Given the description of an element on the screen output the (x, y) to click on. 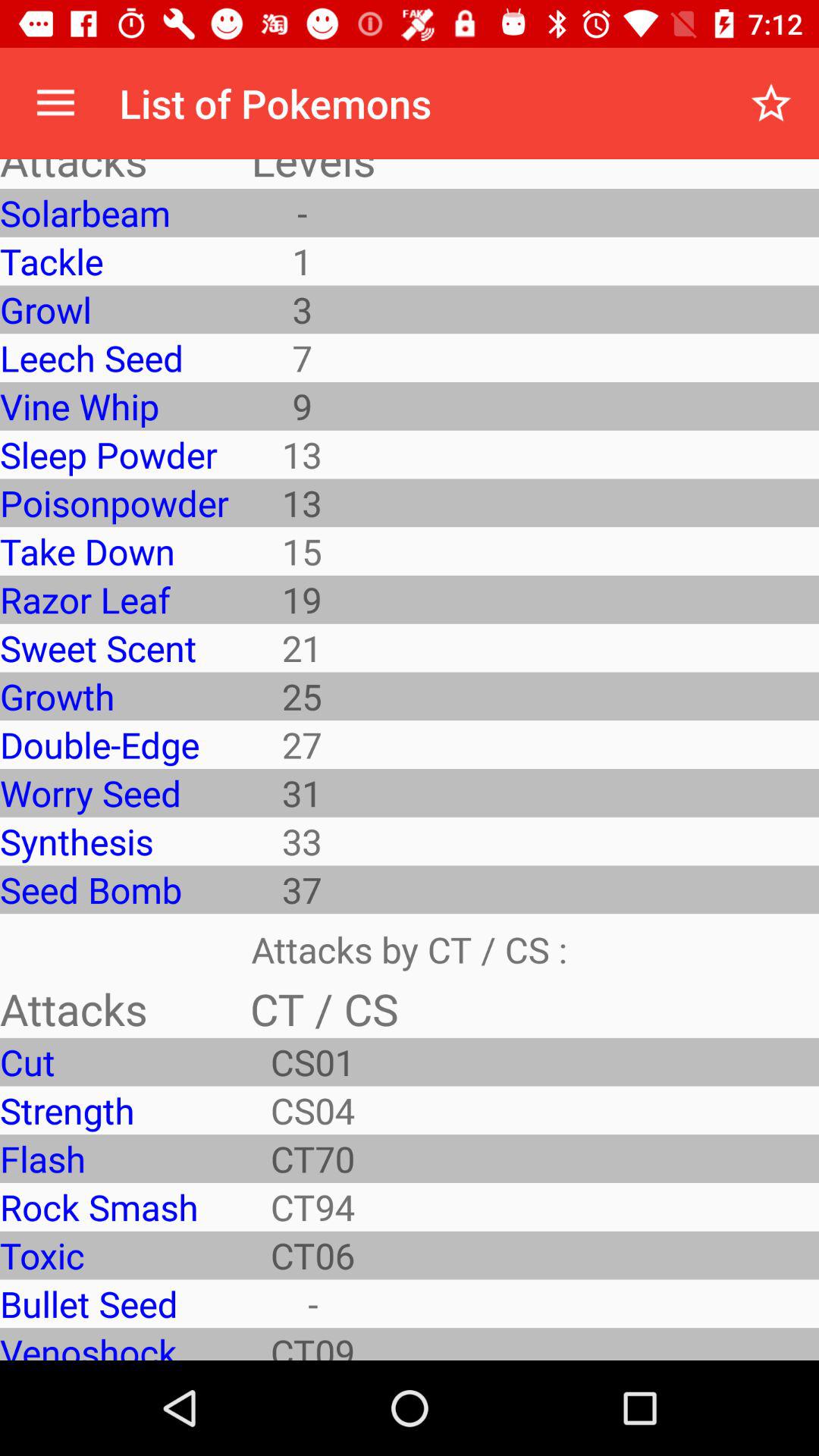
swipe to cut item (113, 1061)
